Given the description of an element on the screen output the (x, y) to click on. 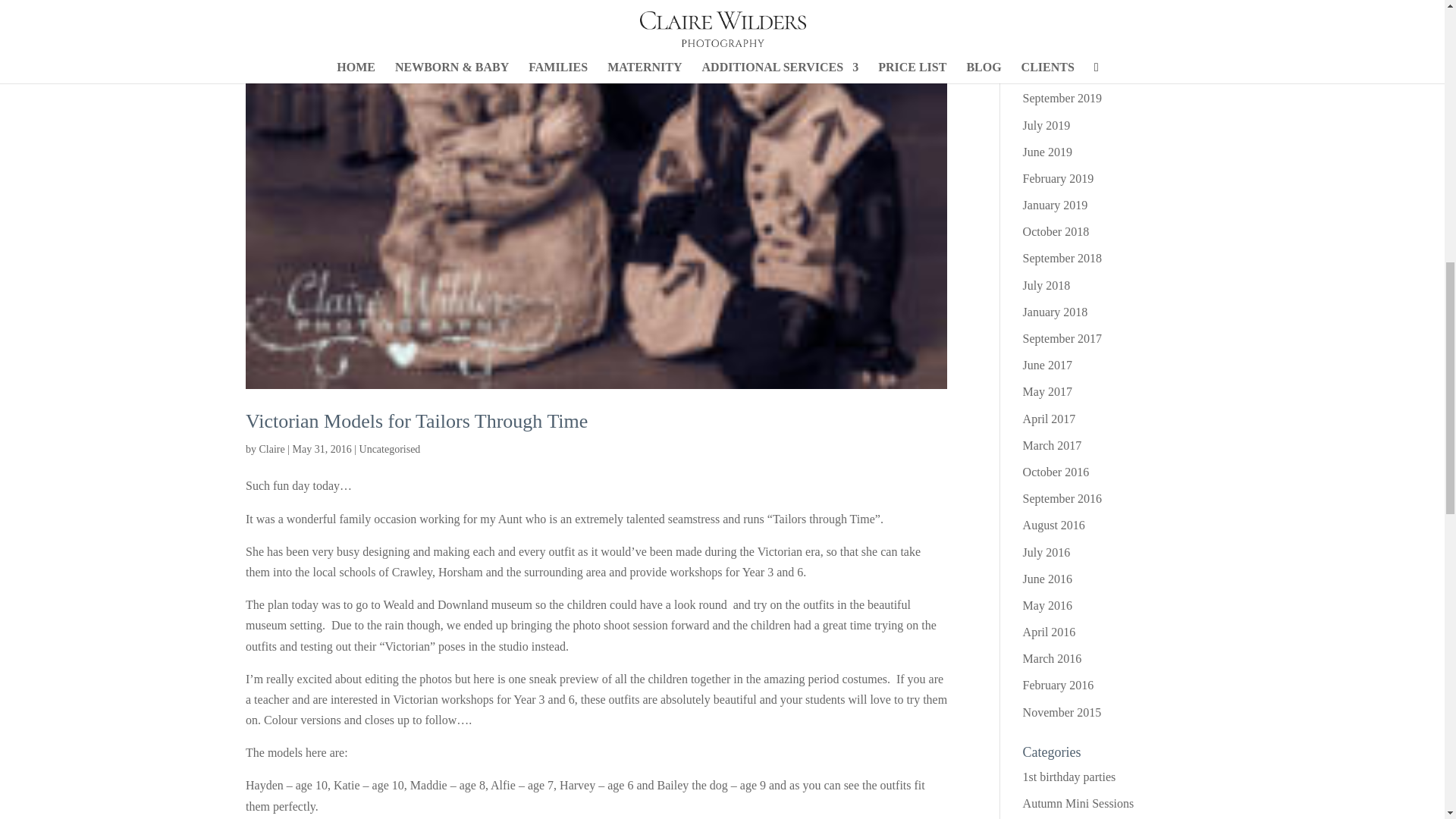
Claire (272, 449)
Victorian Models for Tailors Through Time (417, 421)
Uncategorised (389, 449)
Posts by Claire (272, 449)
